Given the description of an element on the screen output the (x, y) to click on. 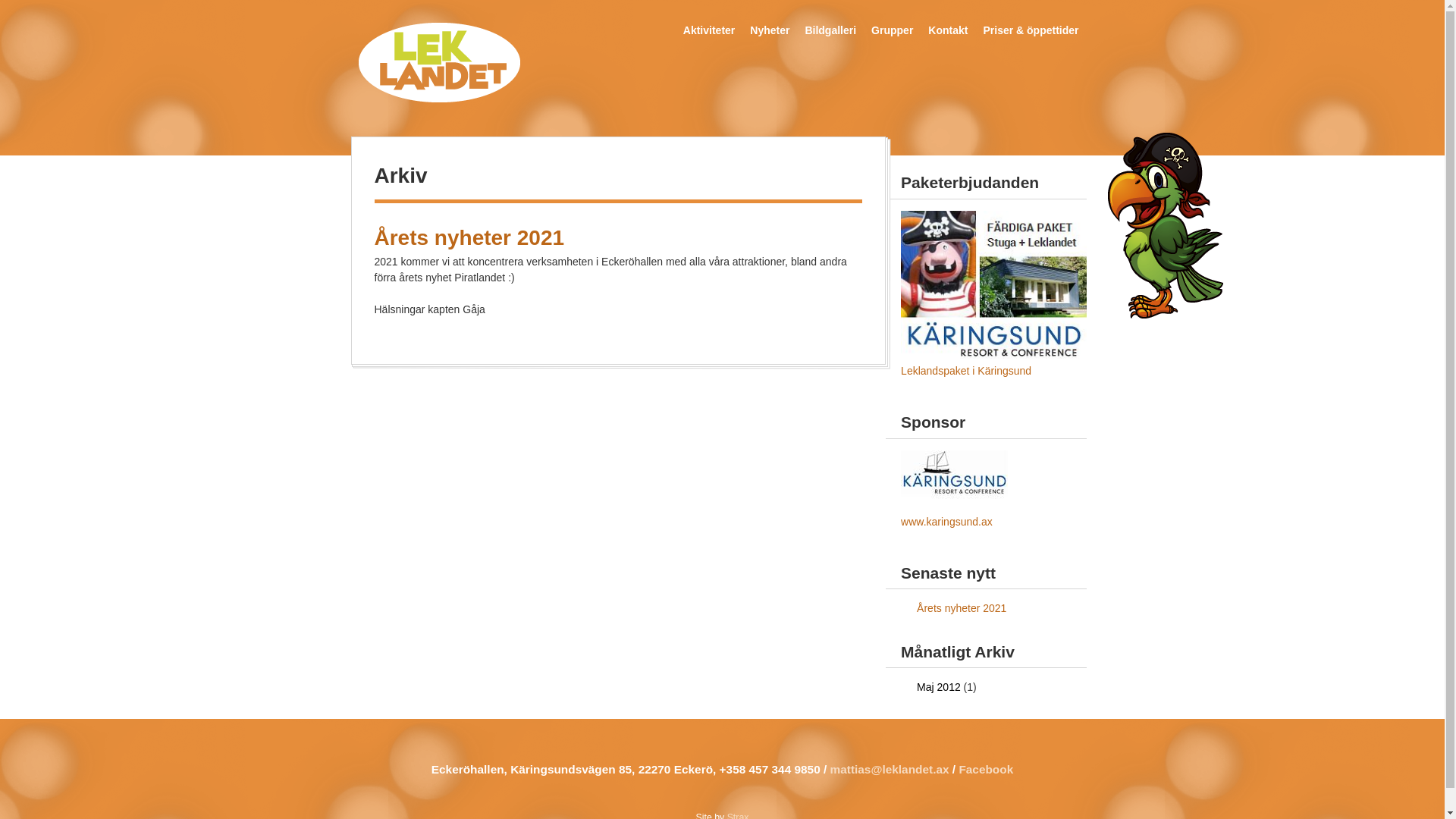
Facebook Element type: text (985, 768)
Kontakt Element type: text (947, 21)
www.karingsund.ax Element type: text (946, 521)
Grupper Element type: text (891, 21)
Nyheter Element type: text (769, 21)
Maj 2012 Element type: text (938, 686)
mattias@leklandet.ax Element type: text (889, 768)
Bildgalleri Element type: text (830, 21)
Aktiviteter Element type: text (708, 21)
